Given the description of an element on the screen output the (x, y) to click on. 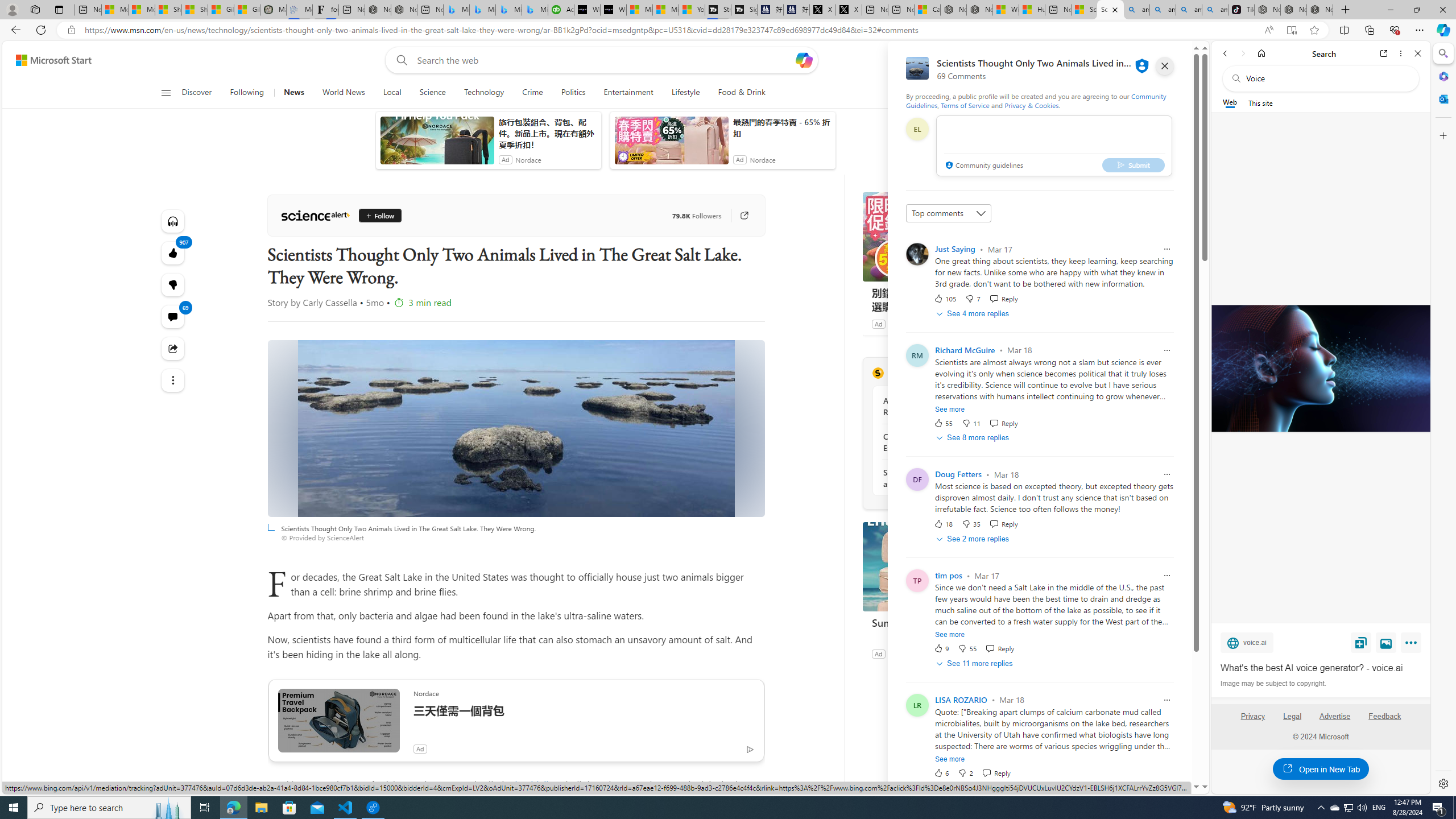
Discover (197, 92)
Class: button-glyph (165, 92)
Address and search bar (669, 29)
9 Like (940, 648)
Settings and more (Alt+F) (1419, 29)
Restore (1416, 9)
Open Copilot (803, 59)
Community guidelines (983, 165)
Wildlife - MSN (1005, 9)
Go to publisher's site (737, 215)
Customize (1442, 135)
amazon - Search Images (1214, 9)
